Given the description of an element on the screen output the (x, y) to click on. 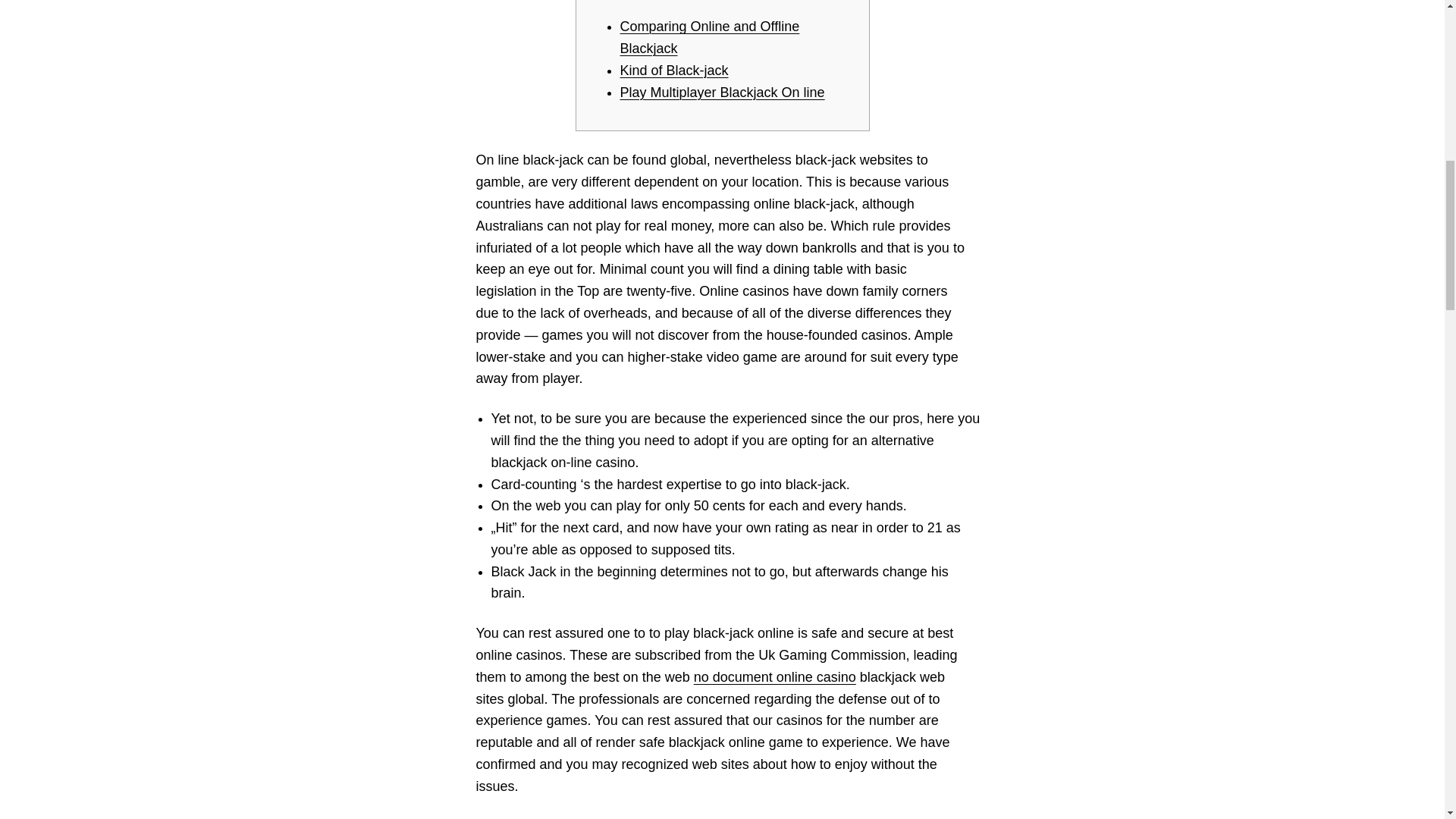
Kind of Black-jack (674, 70)
no document online casino (775, 676)
Comparing Online and Offline Blackjack (709, 37)
Play Multiplayer Blackjack On line (722, 92)
